Given the description of an element on the screen output the (x, y) to click on. 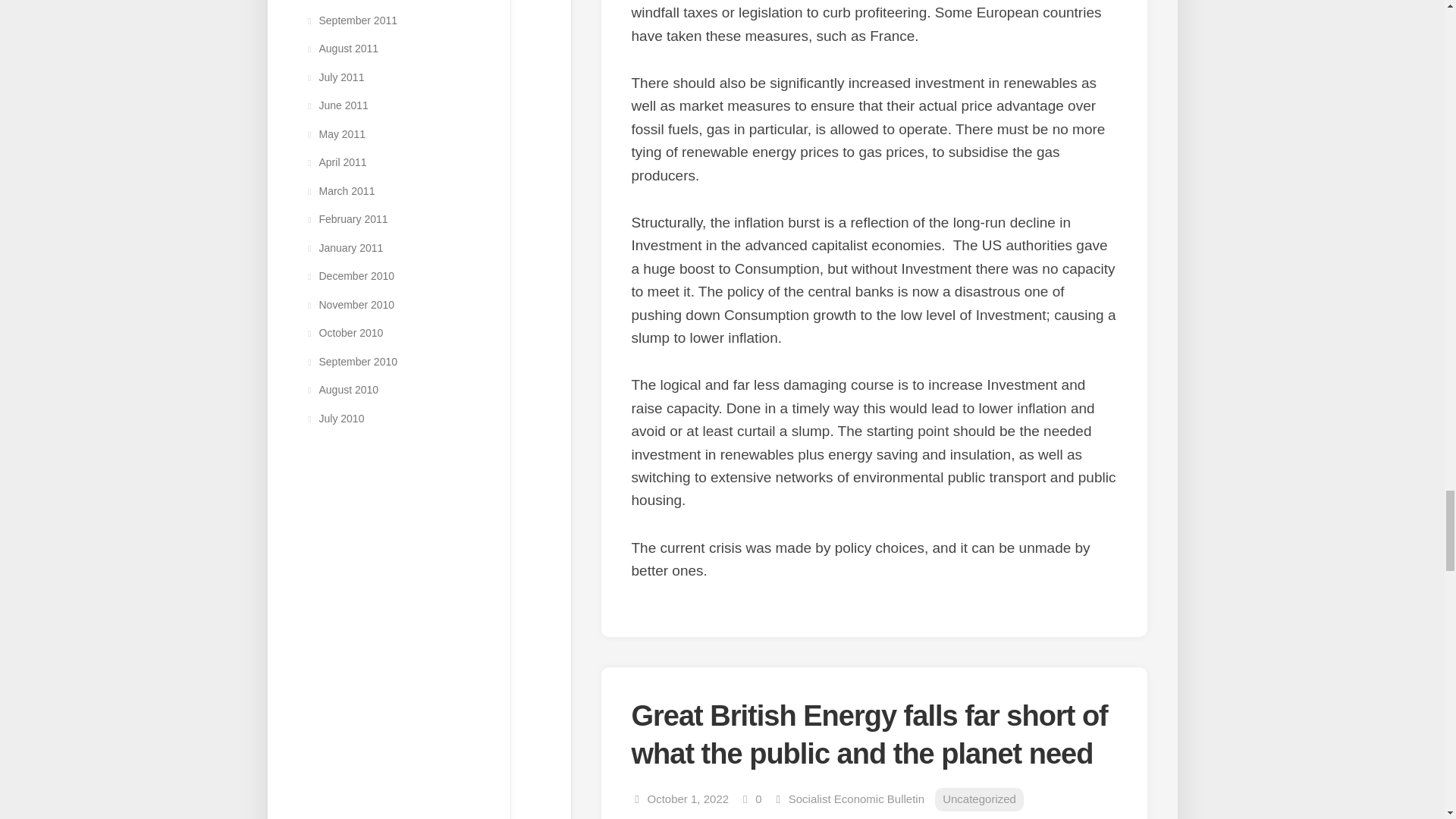
Posts by Socialist Economic Bulletin (856, 798)
